Given the description of an element on the screen output the (x, y) to click on. 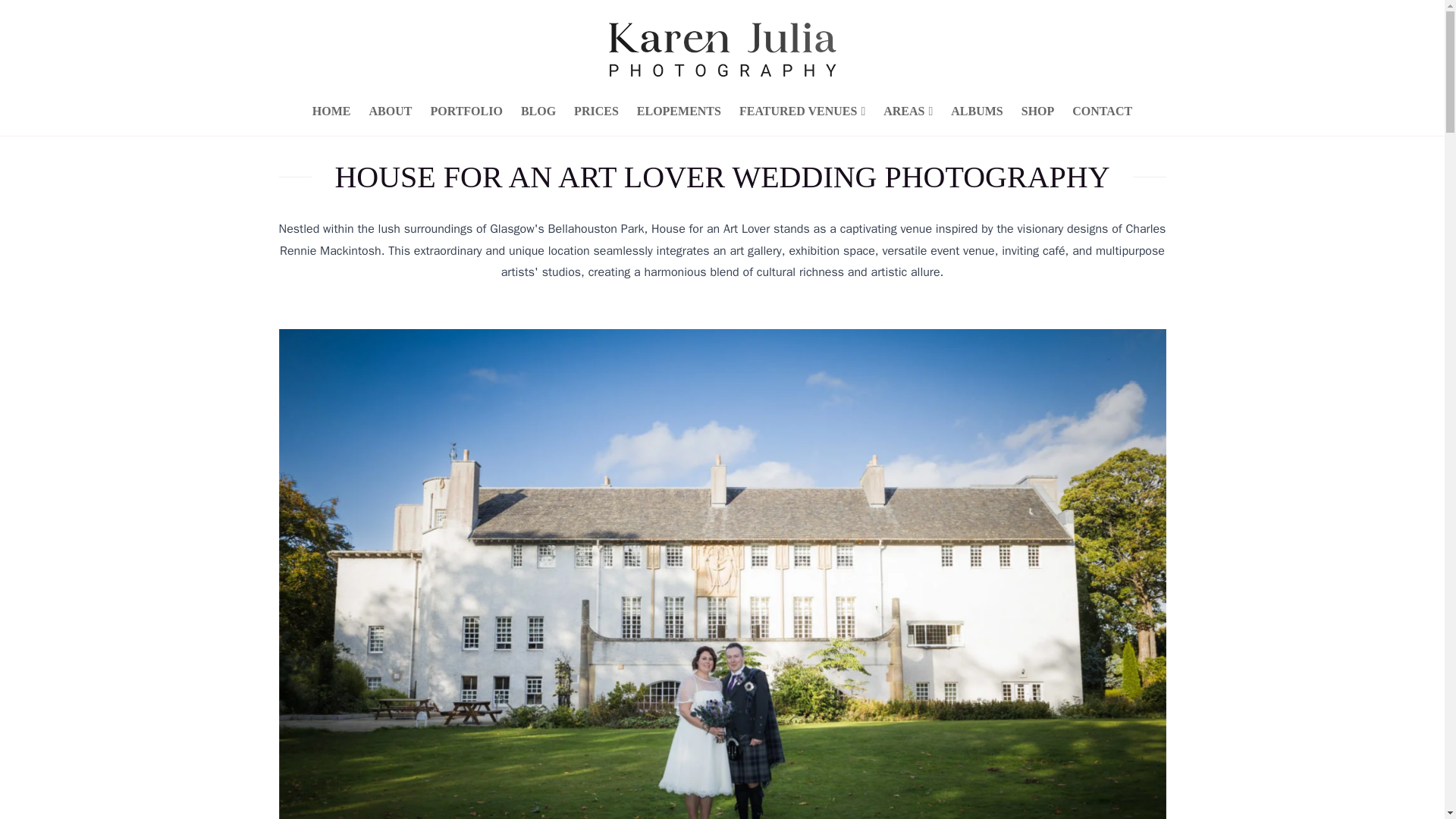
BLOG (538, 111)
ABOUT (390, 111)
PORTFOLIO (465, 111)
FEATURED VENUES (802, 111)
CONTACT (1101, 111)
ALBUMS (976, 111)
HOME (330, 111)
SHOP (1037, 111)
AREAS (908, 111)
PRICES (595, 111)
ELOPEMENTS (678, 111)
